Given the description of an element on the screen output the (x, y) to click on. 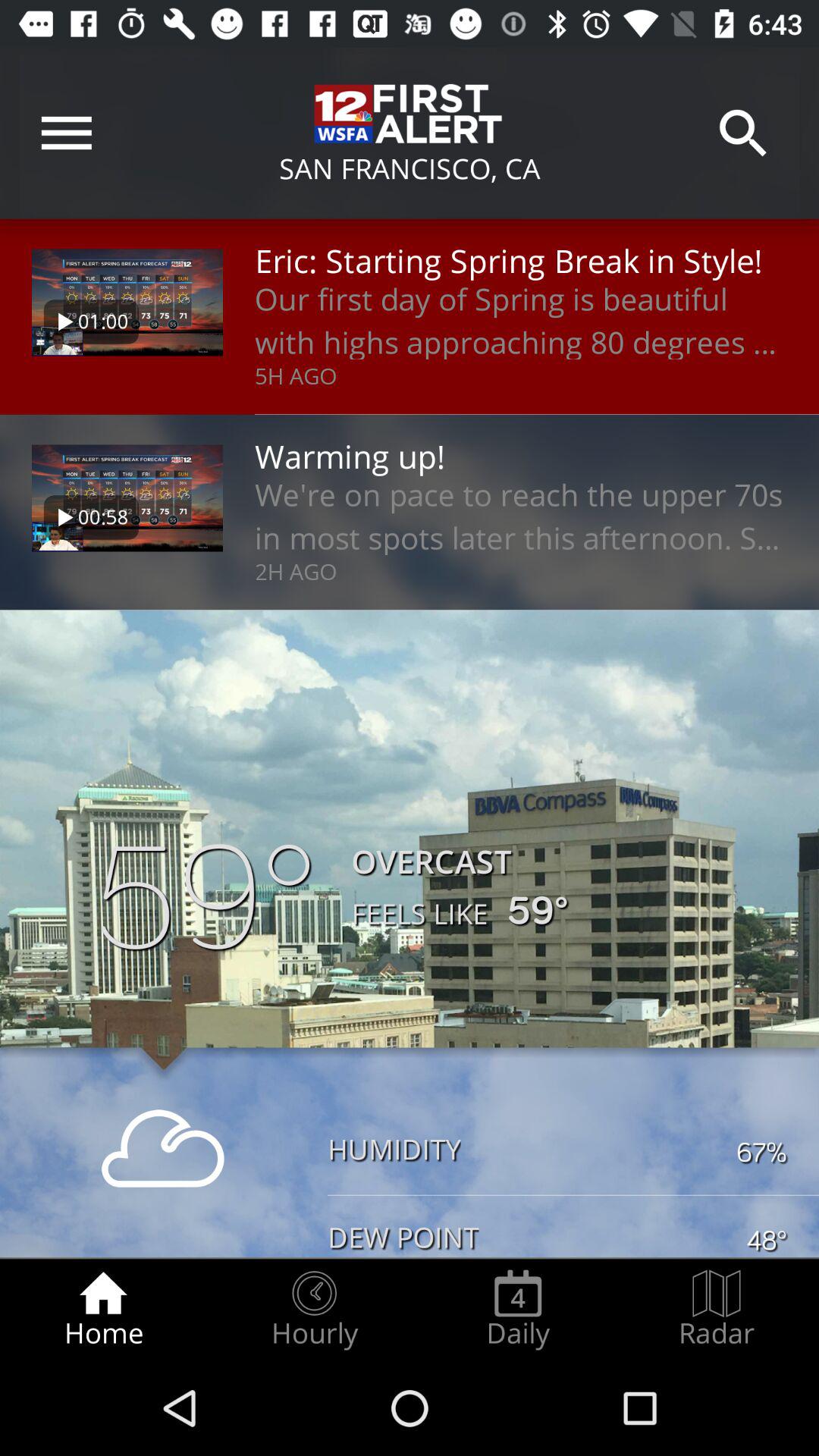
launch the icon next to radar (518, 1309)
